Given the description of an element on the screen output the (x, y) to click on. 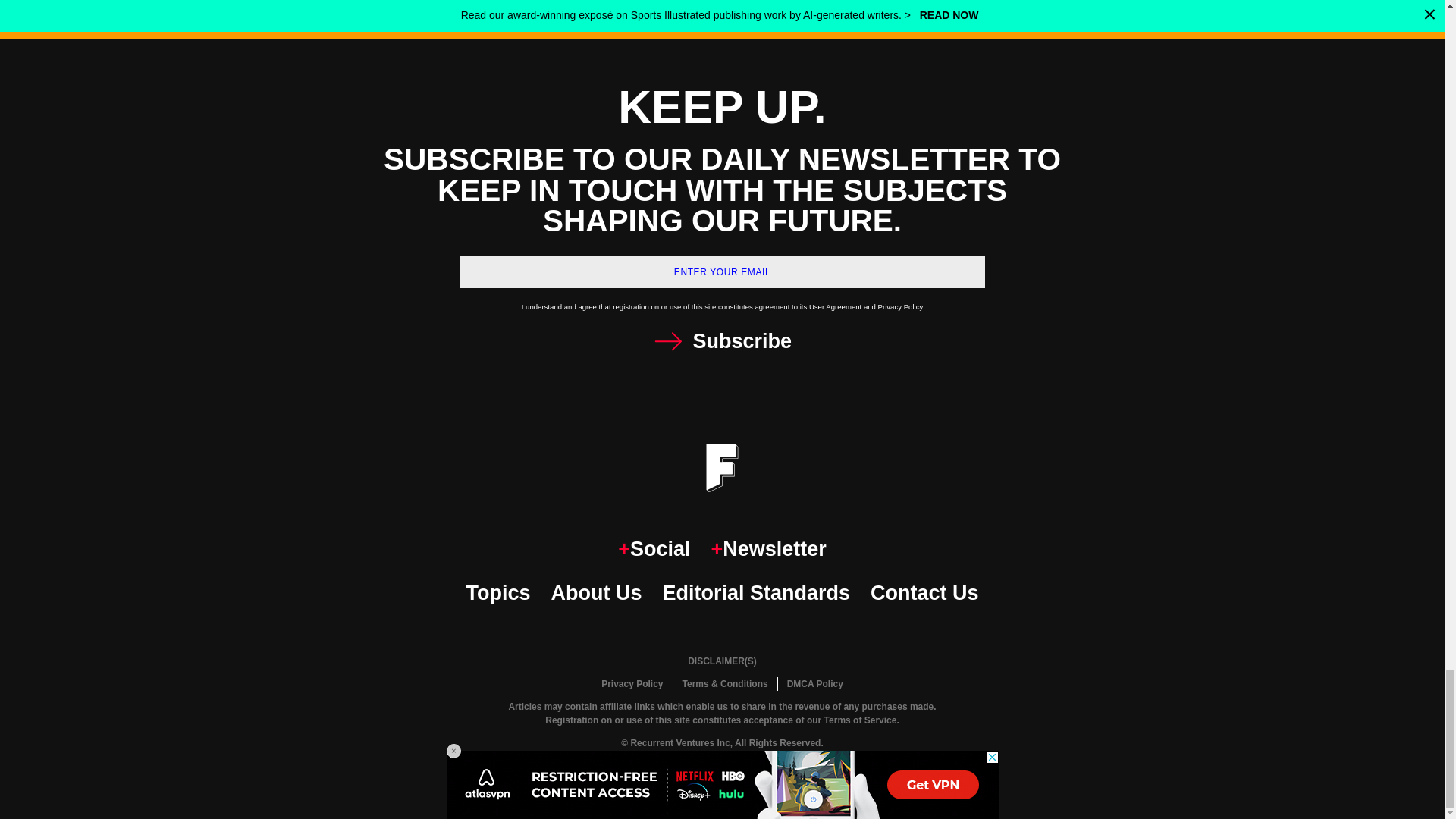
Topics (497, 593)
Subscribe (722, 341)
About Us (596, 593)
Privacy Policy (631, 684)
Editorial Standards (756, 593)
DMCA Policy (814, 684)
Contact Us (924, 593)
